Given the description of an element on the screen output the (x, y) to click on. 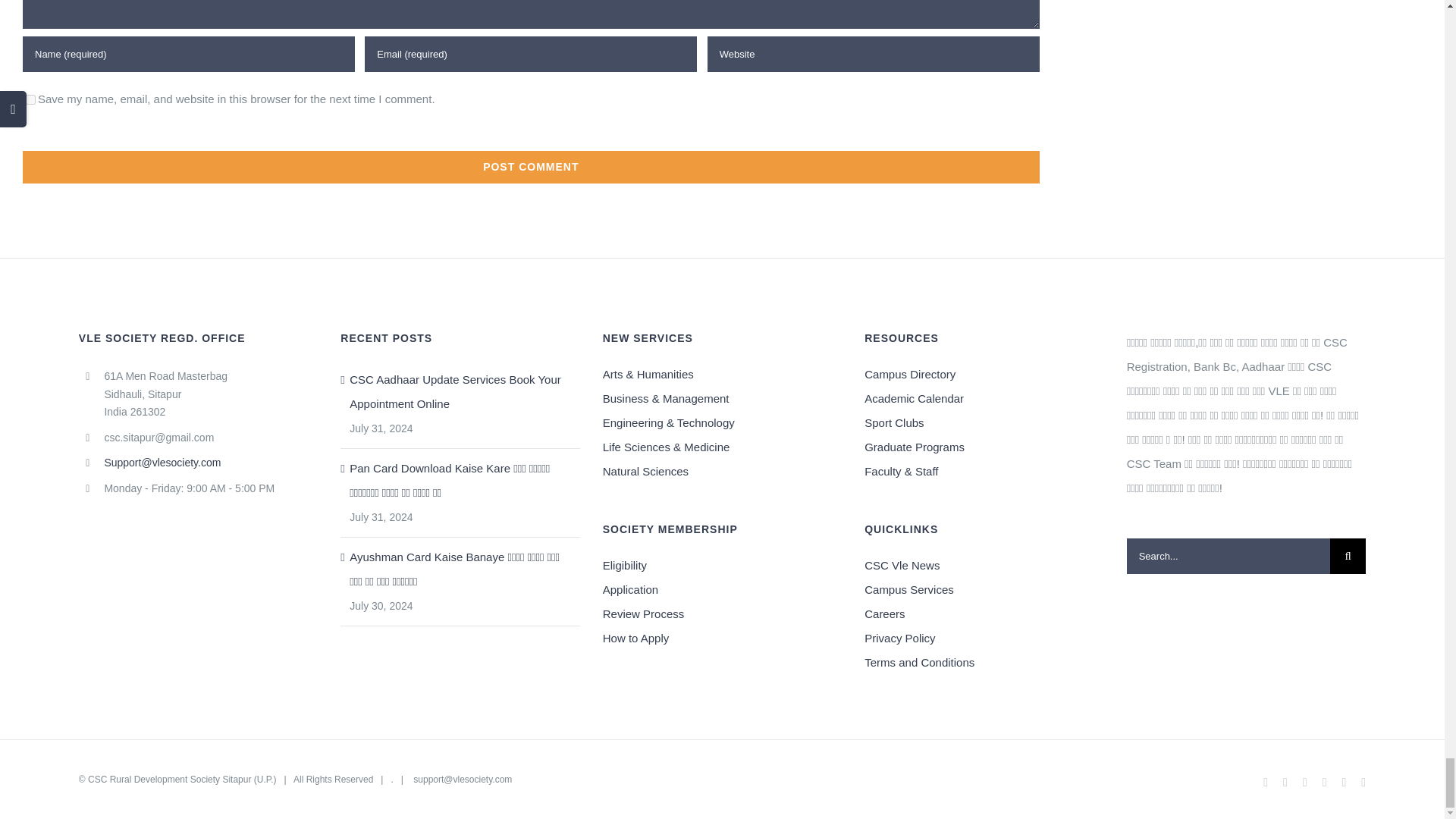
Post Comment (531, 166)
yes (30, 99)
